Given the description of an element on the screen output the (x, y) to click on. 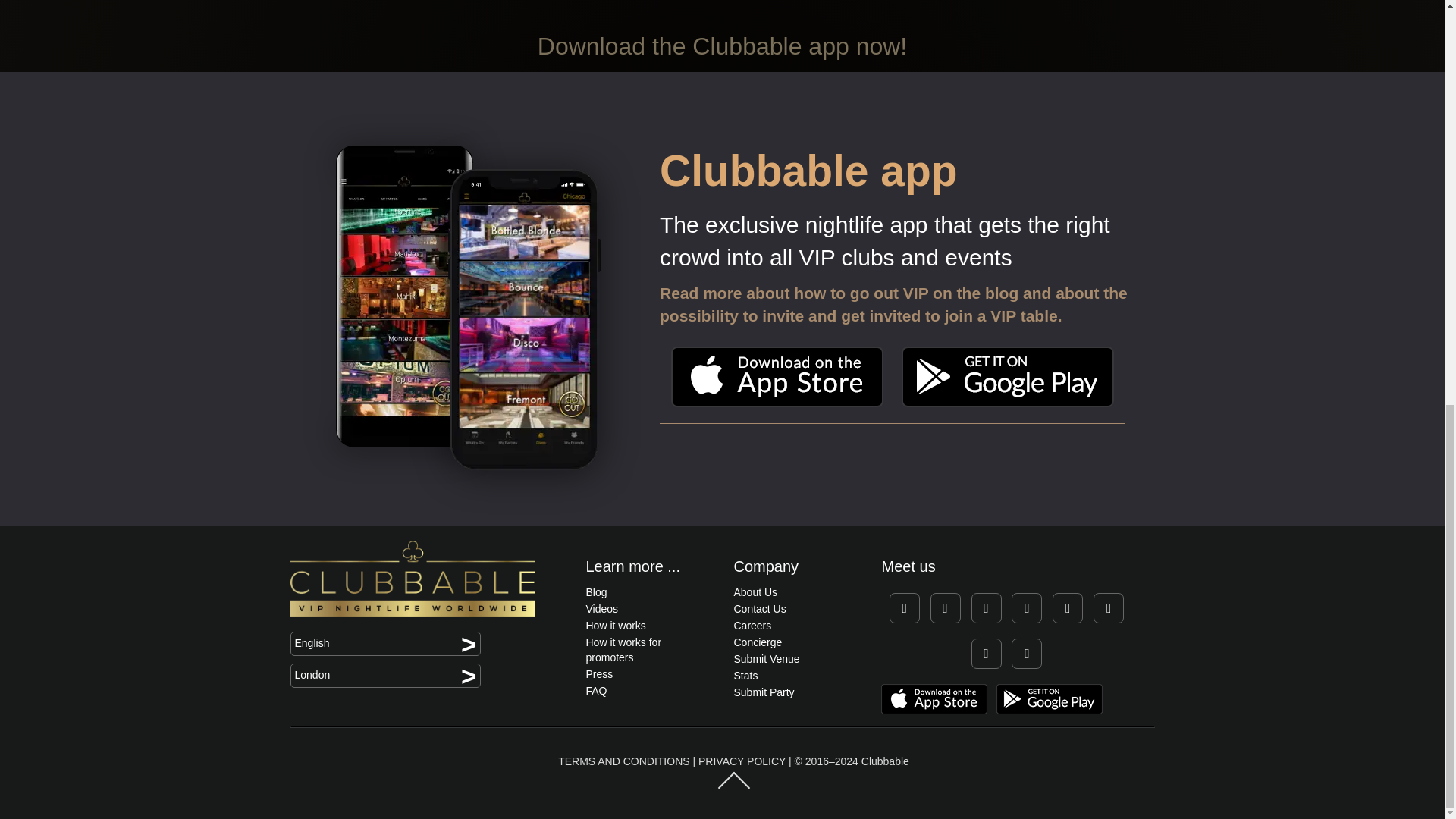
Blog (596, 592)
FAQ (596, 690)
About Us (755, 592)
How it works for promoters (623, 649)
Press (598, 674)
Videos (601, 608)
How it works (615, 625)
Download the Clubbable app now! (722, 45)
